Given the description of an element on the screen output the (x, y) to click on. 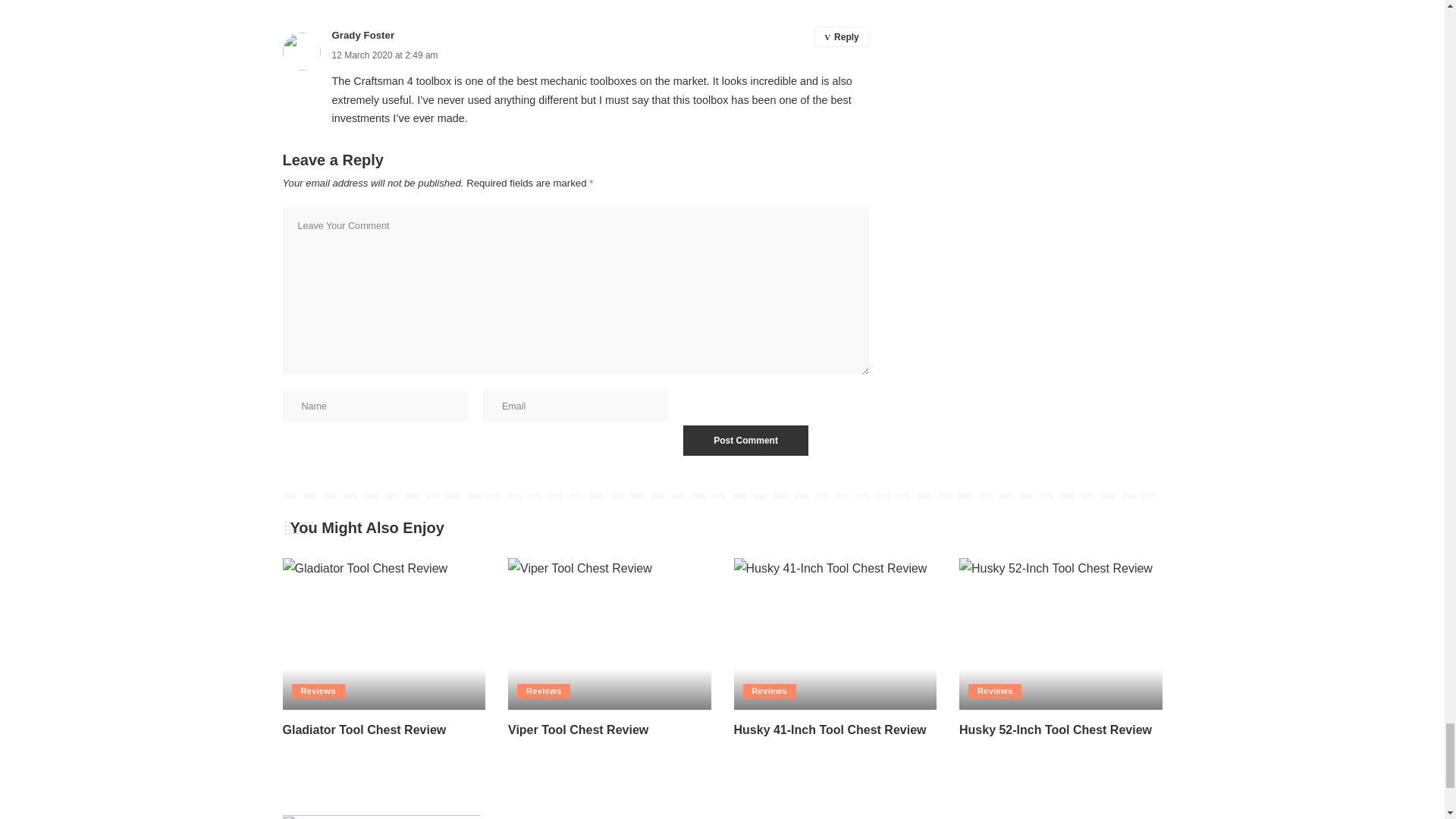
Post Comment (745, 440)
